Given the description of an element on the screen output the (x, y) to click on. 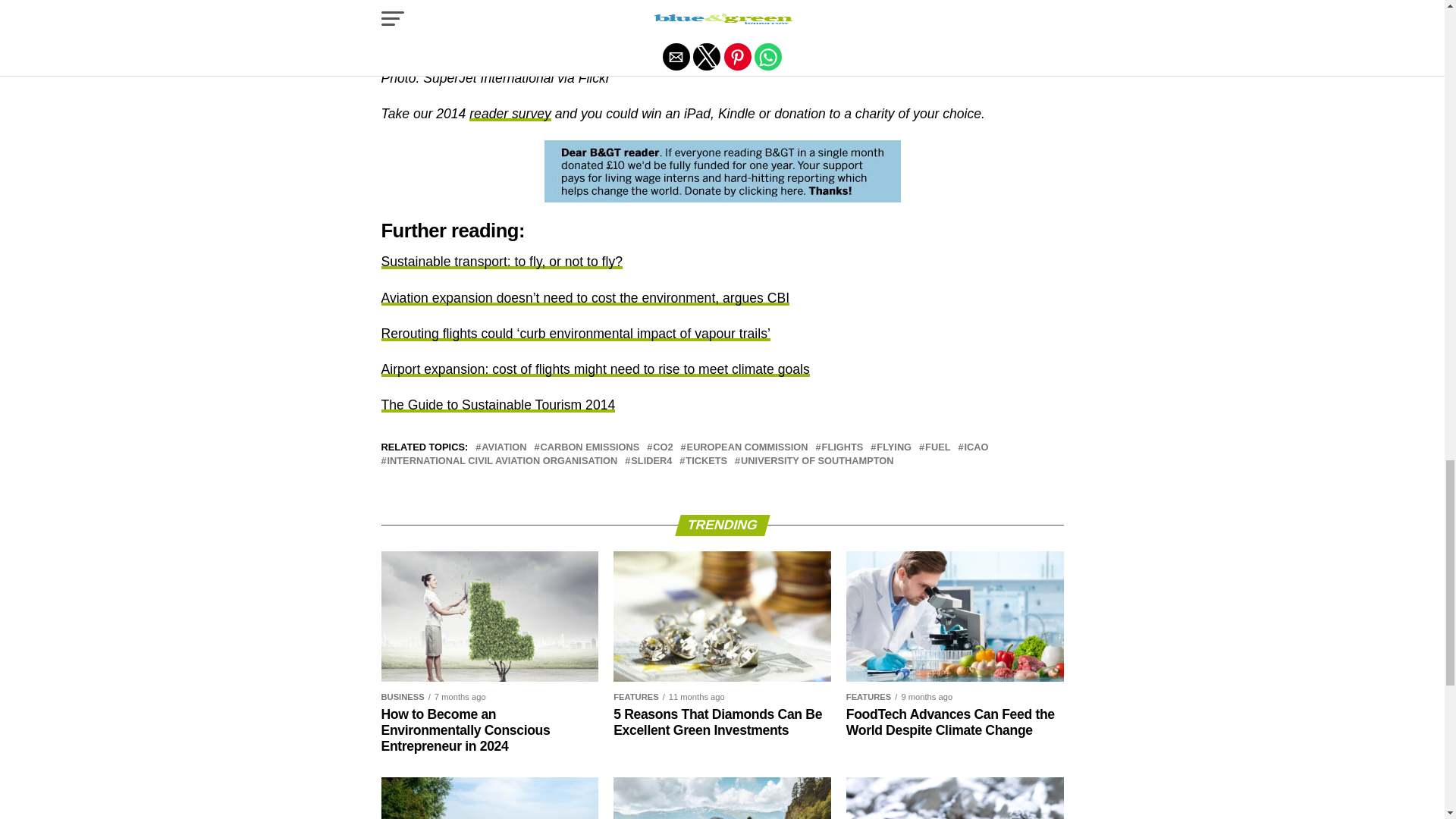
CO2 (662, 447)
CARBON EMISSIONS (589, 447)
FUEL (937, 447)
Reader Survey (509, 113)
AVIATION (503, 447)
FLYING (893, 447)
TICKETS (705, 461)
FLIGHTS (842, 447)
UNIVERSITY OF SOUTHAMPTON (817, 461)
